Given the description of an element on the screen output the (x, y) to click on. 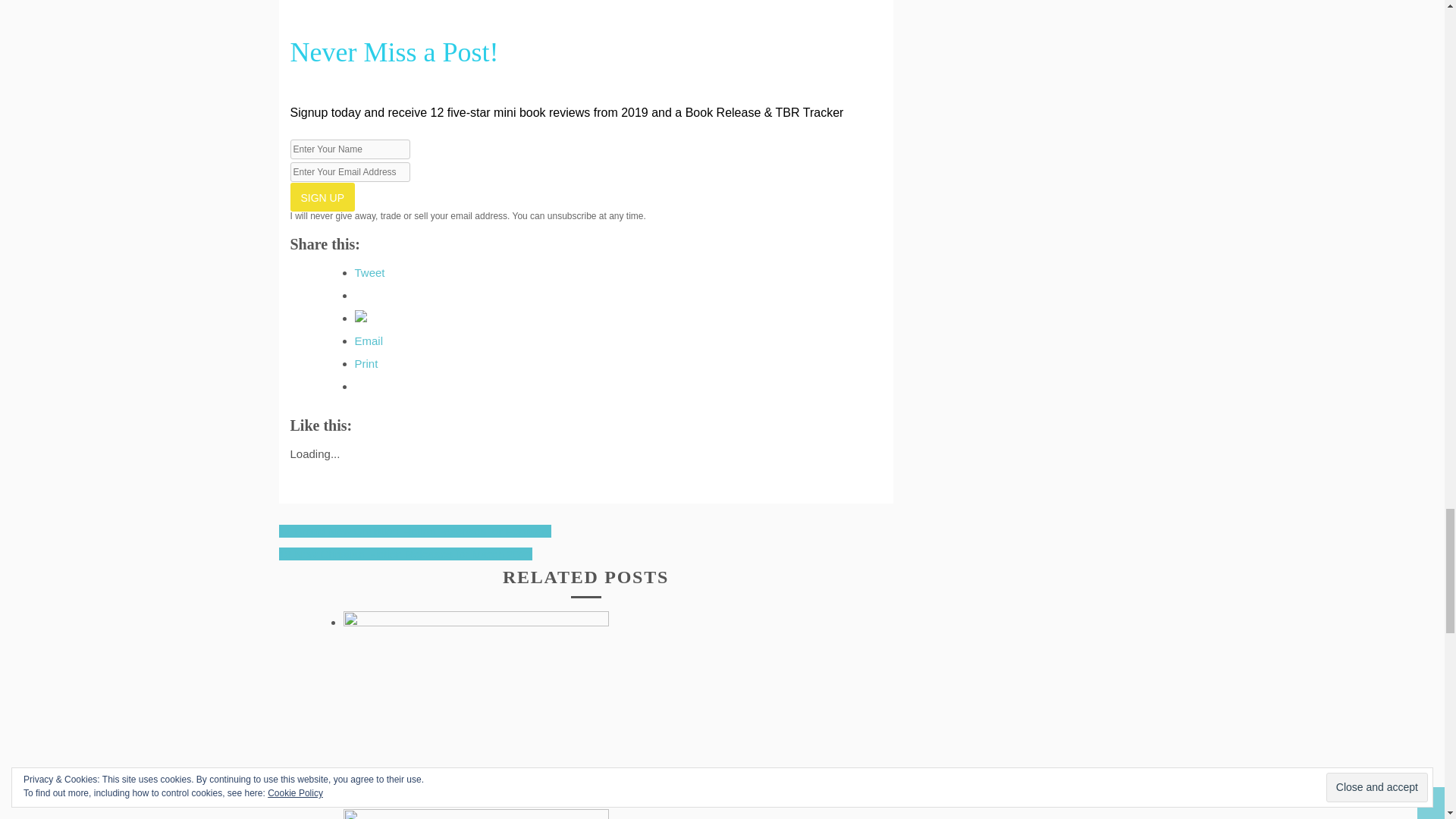
14 Brand New Christian Fiction Releases for February (415, 530)
Print (366, 363)
Click to print (366, 363)
Tweet (370, 272)
Email (369, 340)
Click to email a link to a friend (369, 340)
18 New Christian Fiction Releases for March 2021 (405, 553)
SIGN UP (322, 196)
SIGN UP (322, 196)
